Given the description of an element on the screen output the (x, y) to click on. 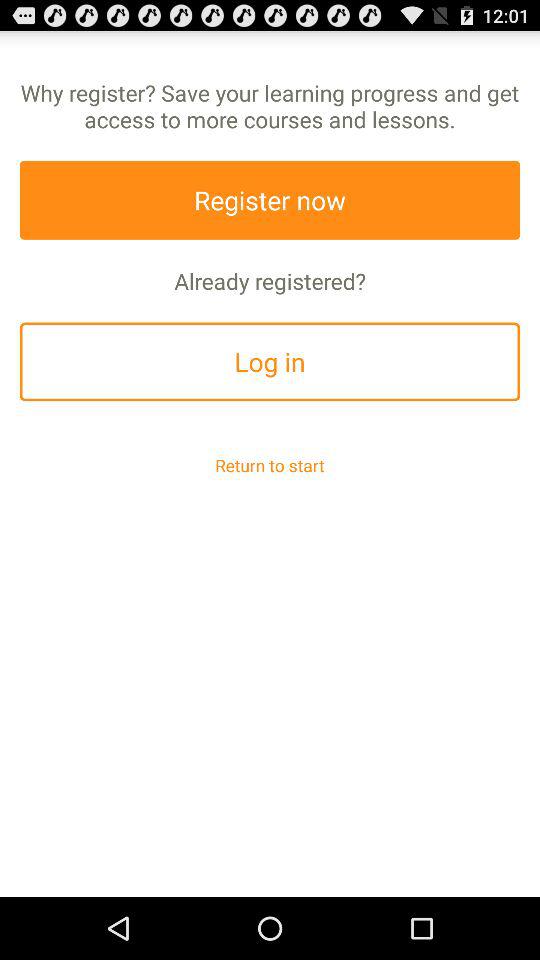
scroll to register now app (269, 199)
